Given the description of an element on the screen output the (x, y) to click on. 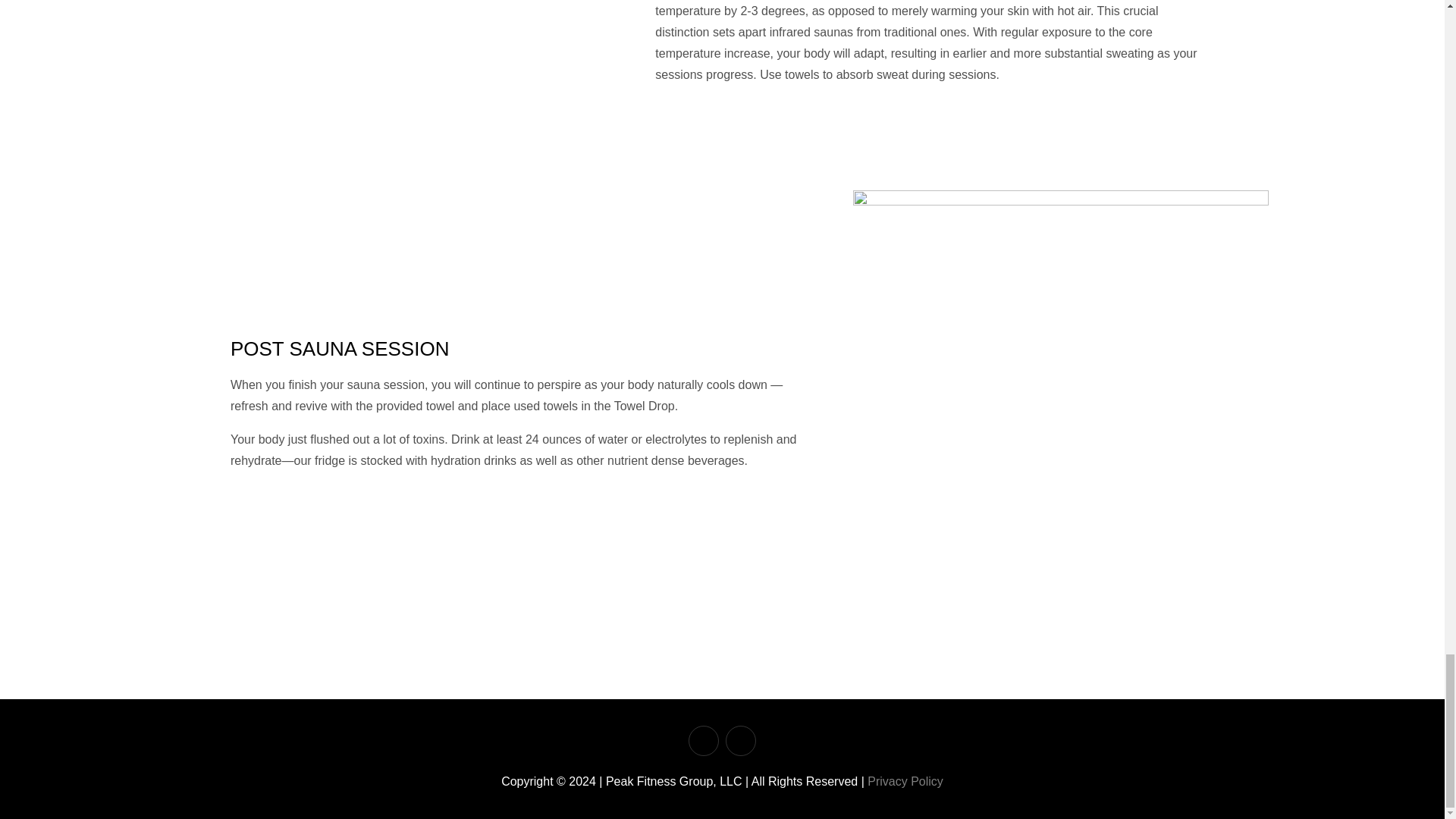
Privacy Policy (905, 780)
Instagram (703, 740)
Facebook (740, 740)
